Given the description of an element on the screen output the (x, y) to click on. 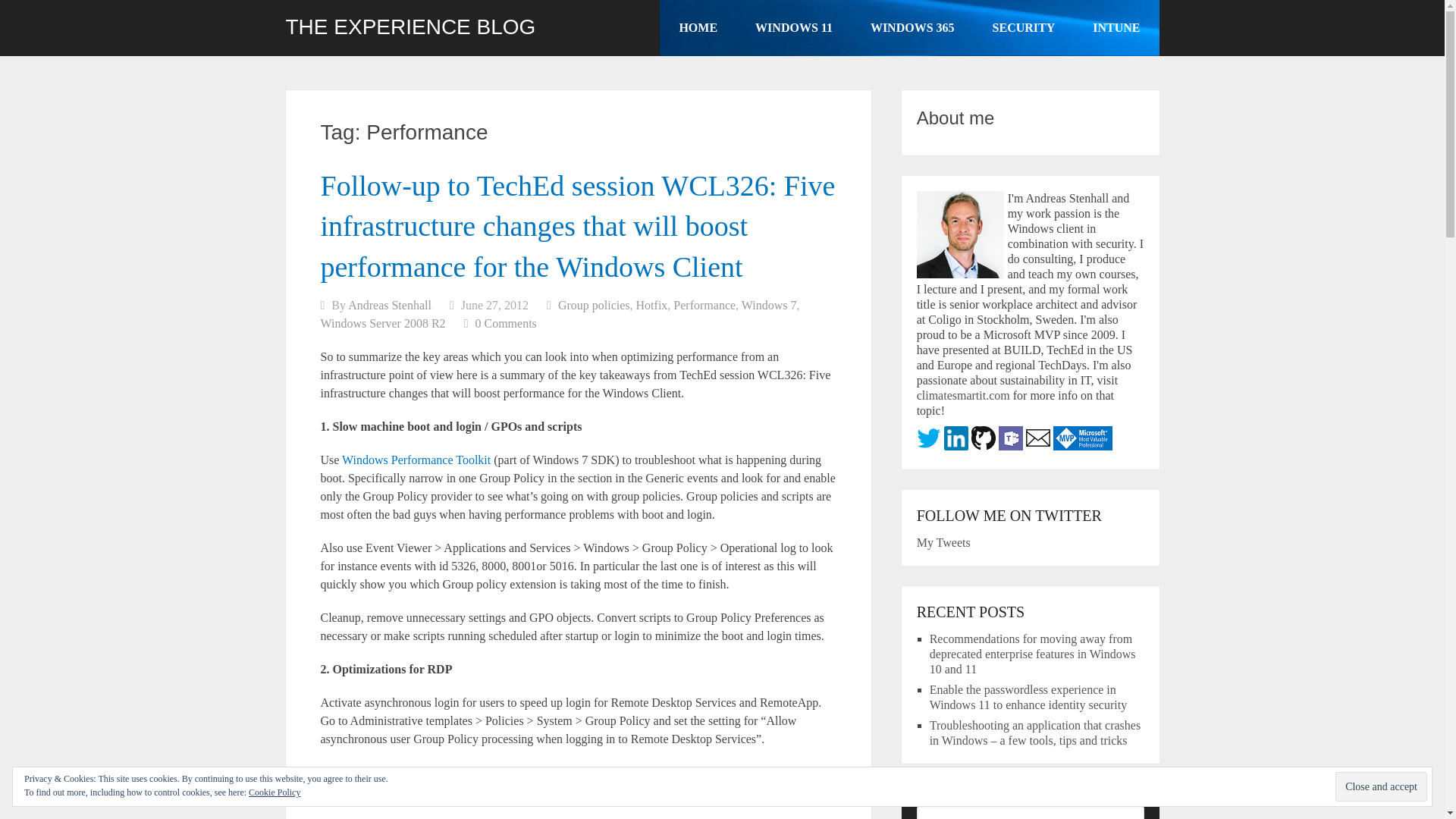
WINDOWS 365 (912, 28)
Group policies (593, 305)
Windows Performance Toolkit (416, 459)
Performance (703, 305)
Hotfix (652, 305)
0 Comments (504, 323)
Windows Server 2008 R2 (382, 323)
SECURITY (1024, 28)
WINDOWS 11 (793, 28)
Windows 7 (768, 305)
Close and accept (1380, 786)
INTUNE (1116, 28)
THE EXPERIENCE BLOG (410, 26)
